Given the description of an element on the screen output the (x, y) to click on. 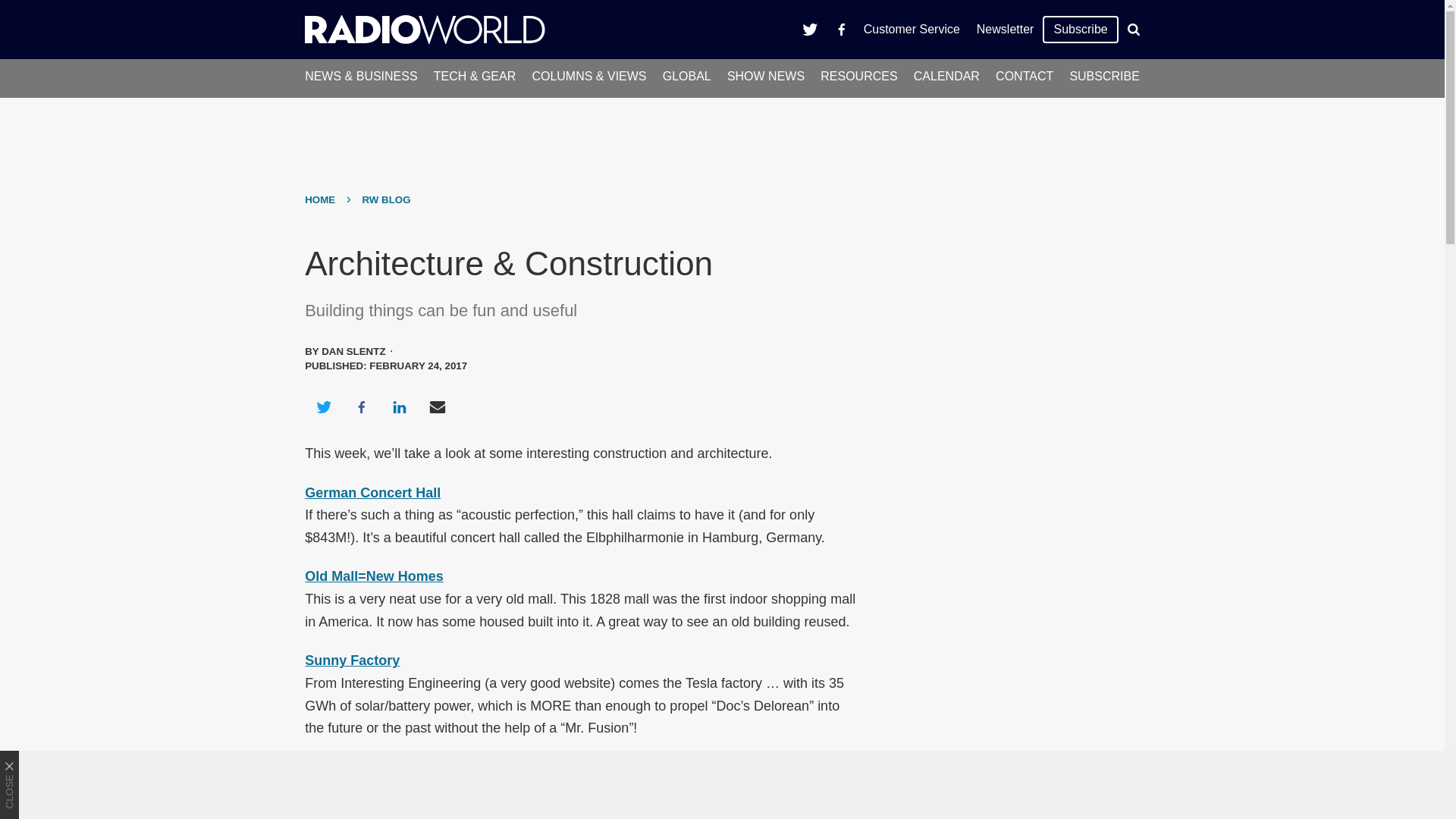
Share on Twitter (323, 406)
Share via Email (438, 406)
Customer Service (912, 29)
Share on LinkedIn (399, 406)
Share on Facebook (361, 406)
